Given the description of an element on the screen output the (x, y) to click on. 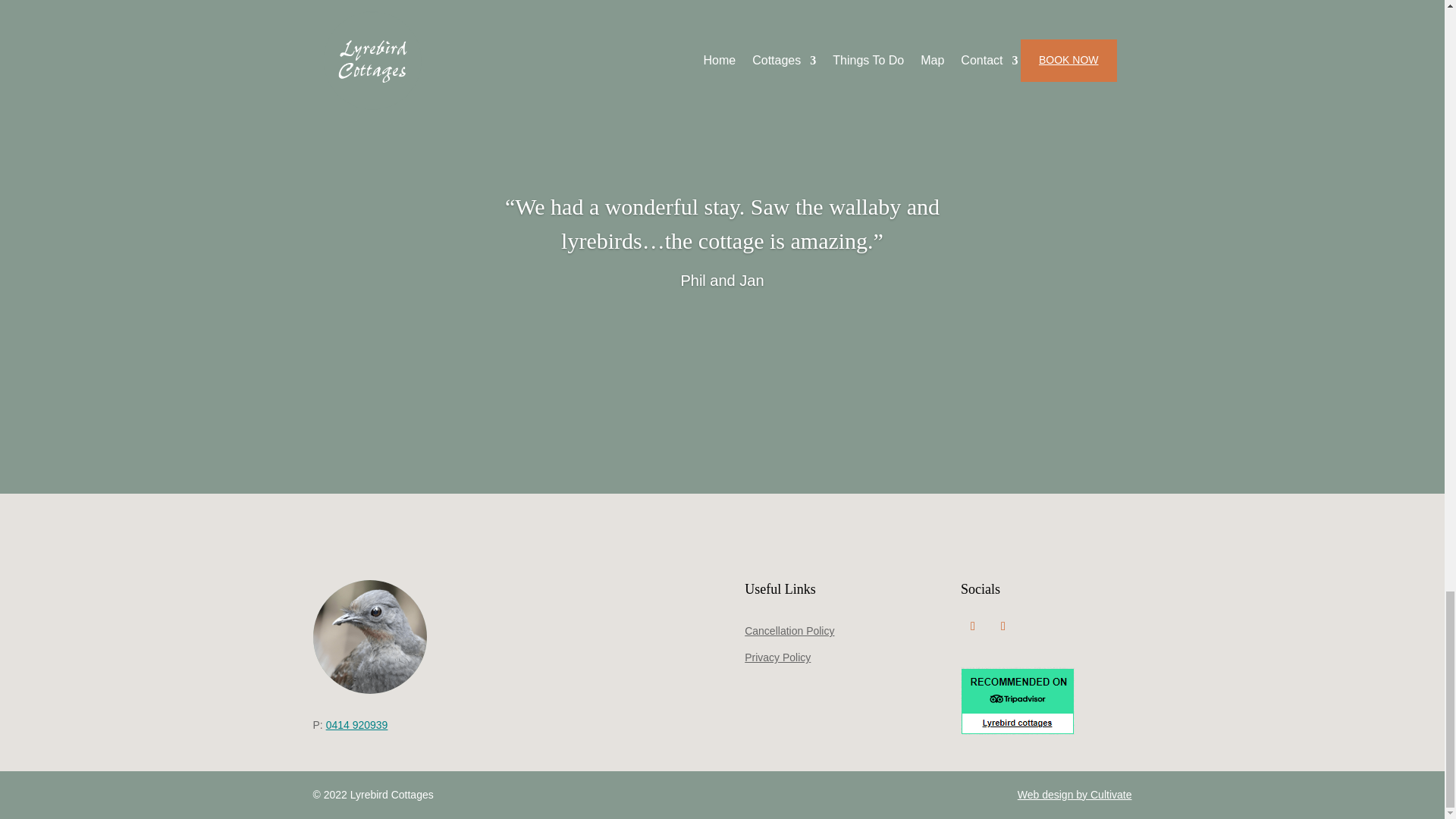
Cancellation Policy (789, 630)
Web design by Cultivate (1074, 794)
Privacy Policy (777, 657)
0414 920939 (357, 725)
